Given the description of an element on the screen output the (x, y) to click on. 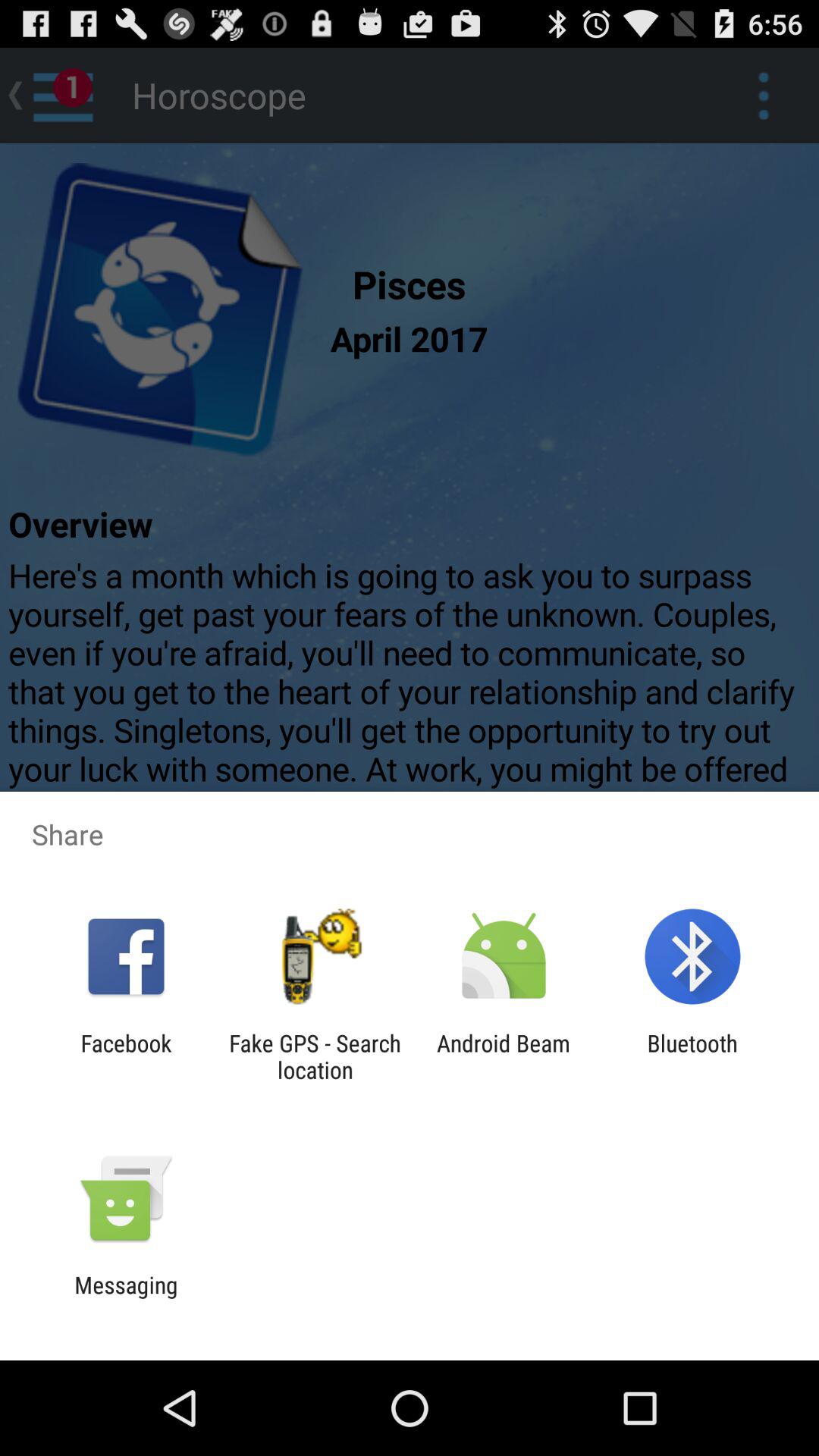
press facebook icon (125, 1056)
